Given the description of an element on the screen output the (x, y) to click on. 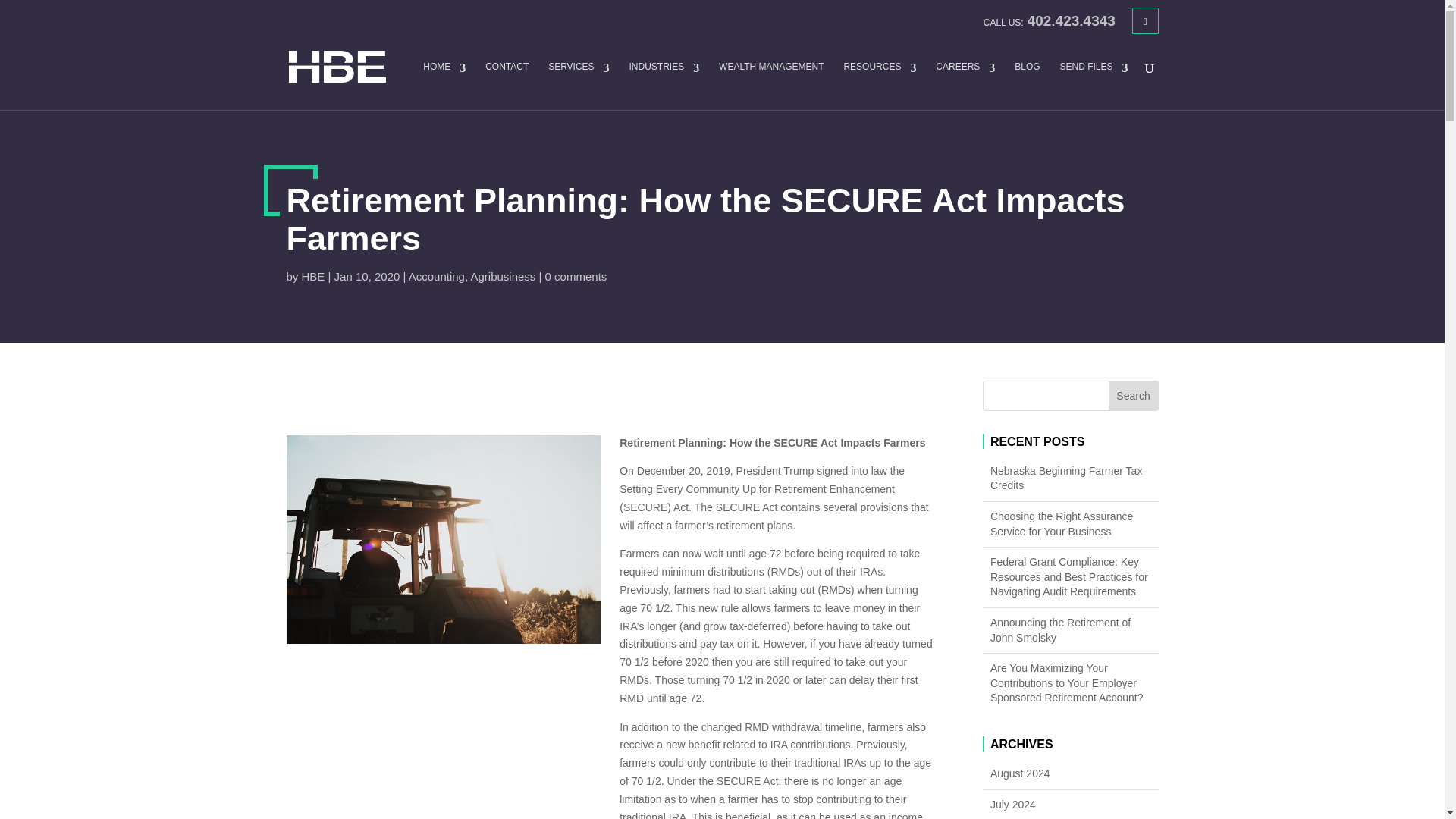
INDUSTRIES (663, 85)
CONTACT (506, 85)
SEND FILES (1092, 85)
Search (1133, 395)
WEALTH MANAGEMENT (771, 85)
CAREERS (965, 85)
Posts by HBE (312, 276)
RESOURCES (879, 85)
SERVICES (578, 85)
